Given the description of an element on the screen output the (x, y) to click on. 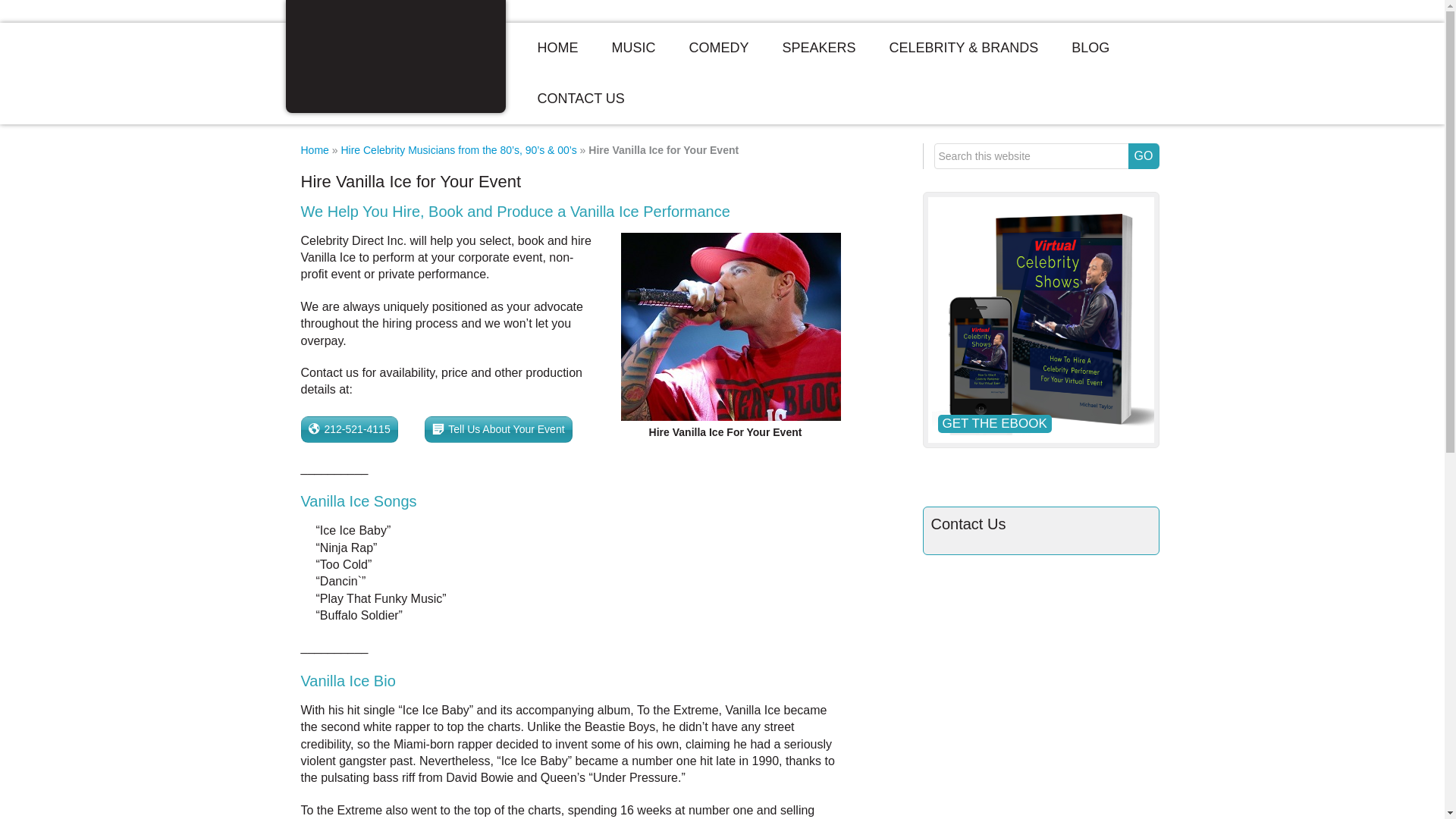
GO (1143, 155)
GO (1143, 155)
CONTACT US (579, 98)
BLOG (1089, 47)
Twitter (983, 482)
212-521-4115 (348, 429)
SPEAKERS (818, 47)
Celebrity Direct Inc. (395, 60)
Home (314, 150)
HOME (556, 47)
